Given the description of an element on the screen output the (x, y) to click on. 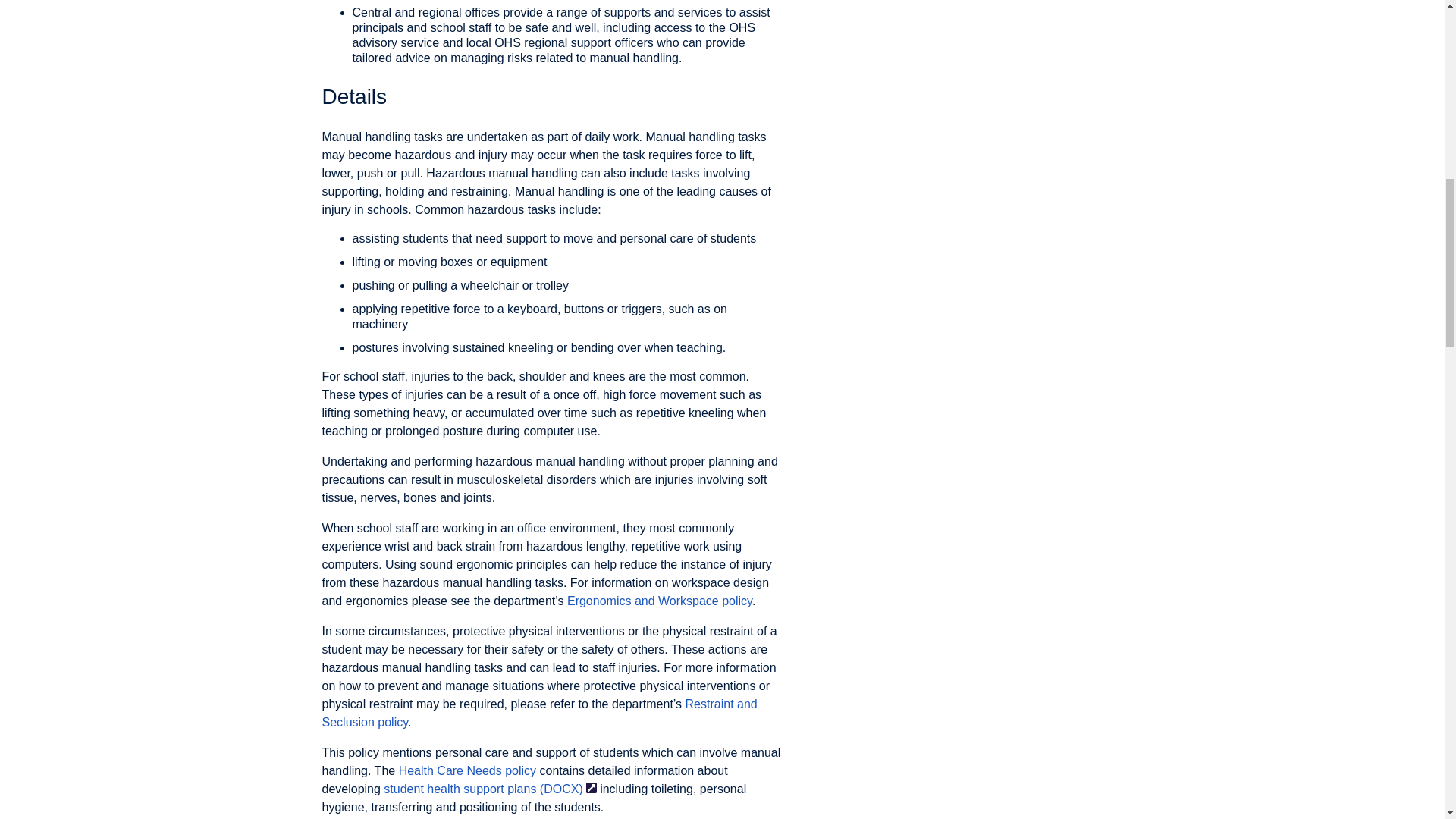
Health Care Needs policy (466, 770)
Restraint and Seclusion policy (539, 712)
Ergonomics and Workspace policy (659, 600)
External Link (591, 787)
